Given the description of an element on the screen output the (x, y) to click on. 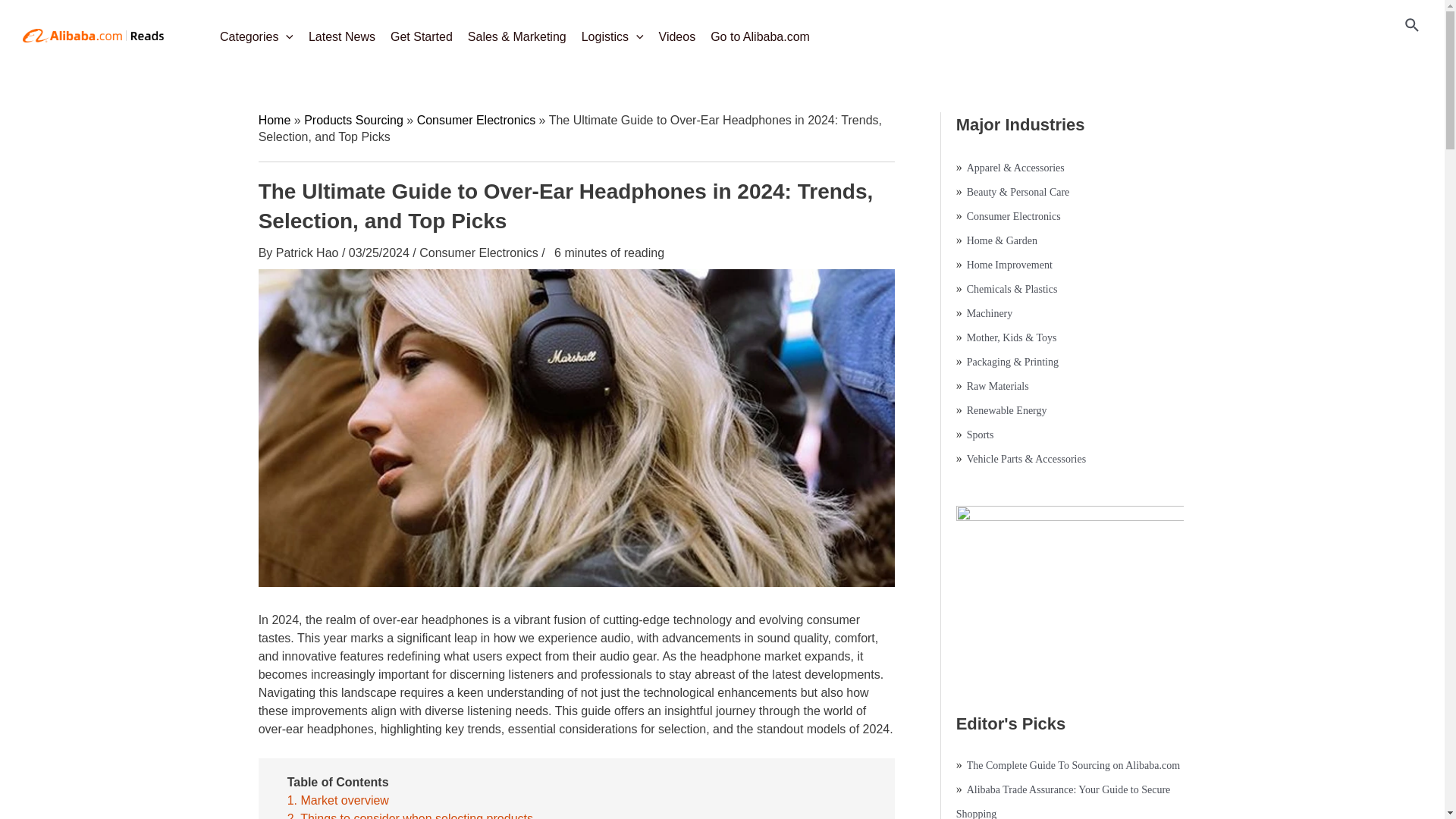
Get Started (421, 31)
Go to Alibaba.com (759, 31)
Latest News (341, 31)
View all posts by Patrick Hao (309, 252)
Logistics (611, 31)
Categories (256, 31)
